Given the description of an element on the screen output the (x, y) to click on. 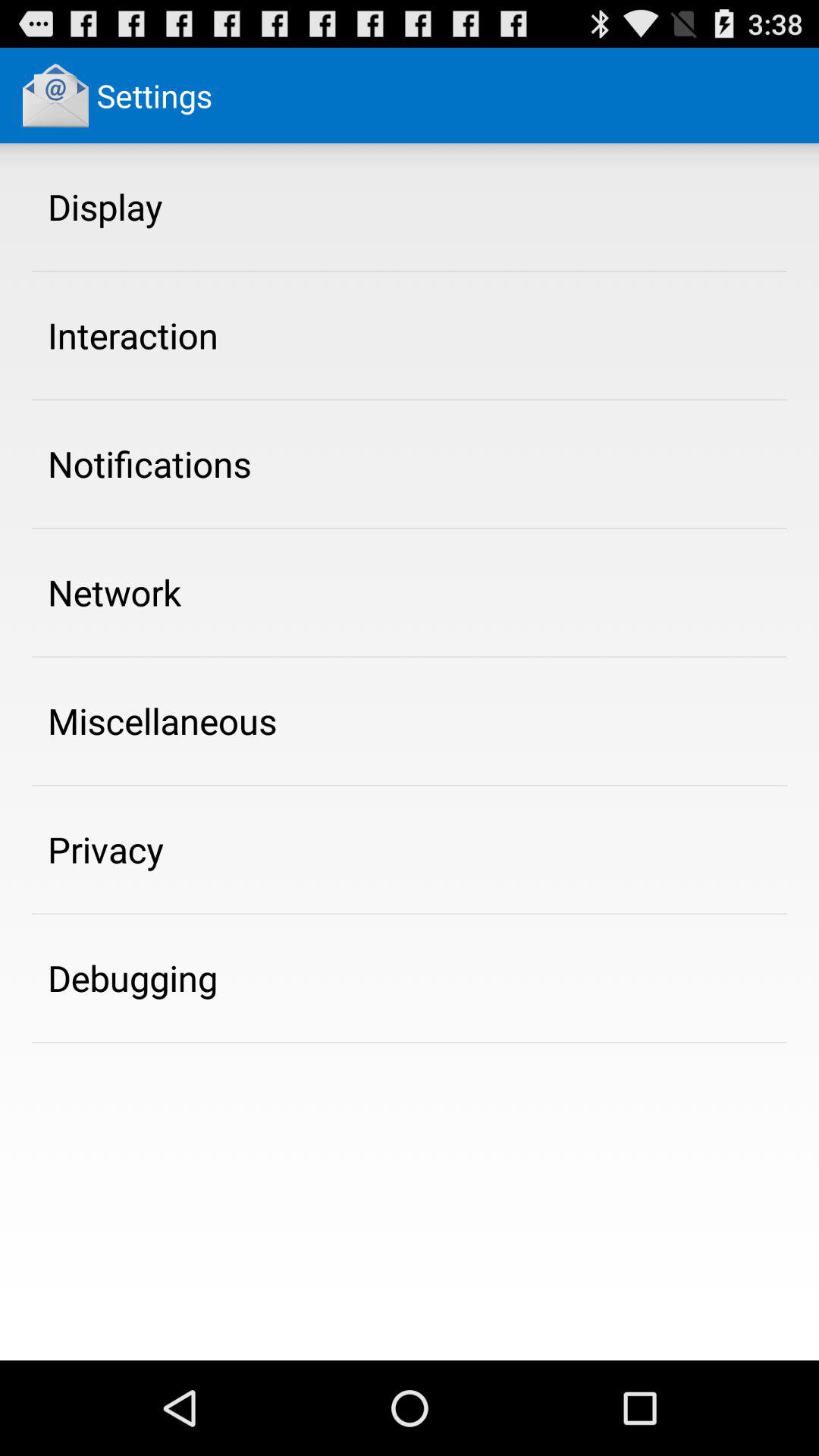
click the icon below the privacy app (132, 977)
